Given the description of an element on the screen output the (x, y) to click on. 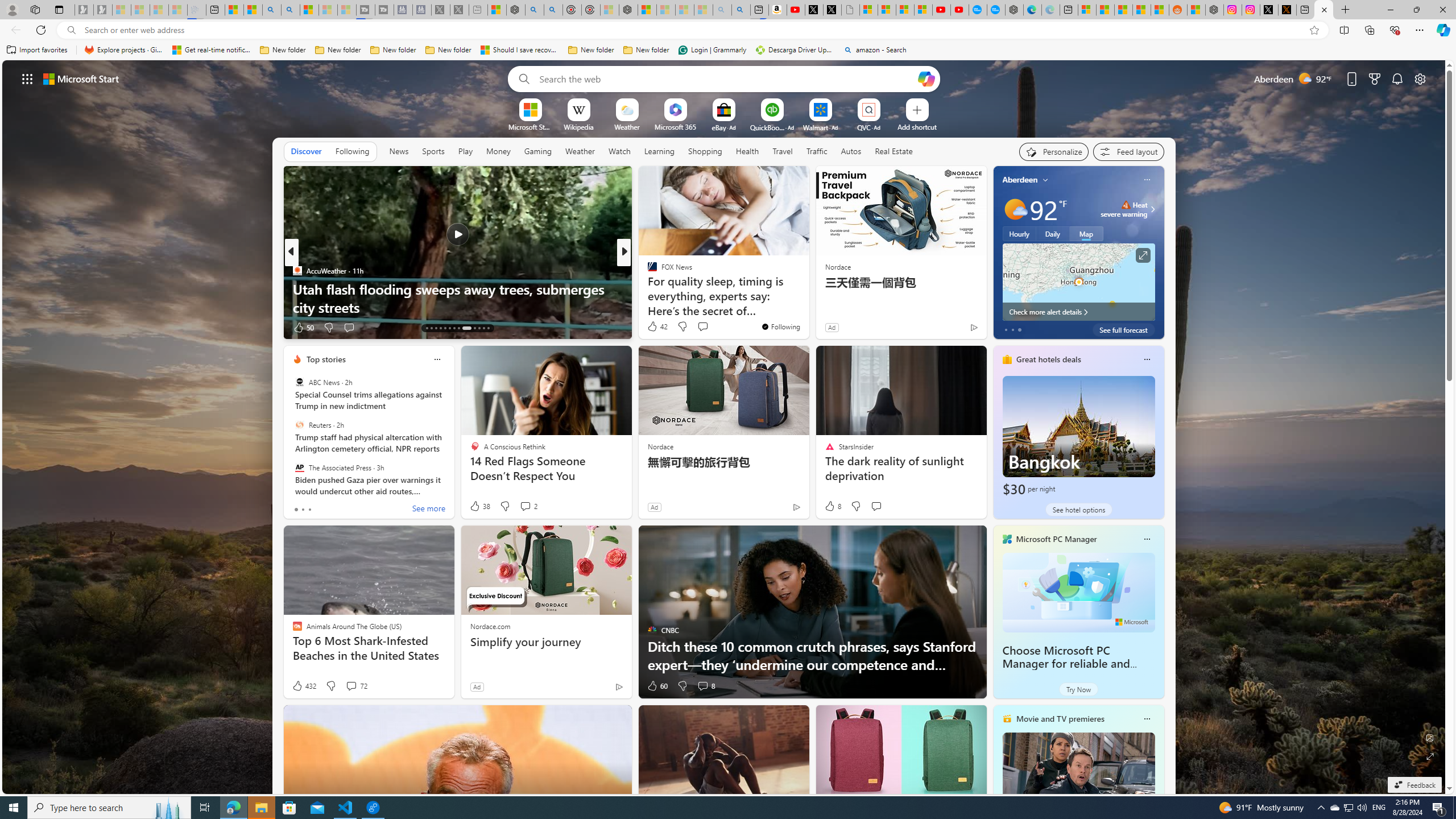
Newsletter Sign Up - Sleeping (102, 9)
AutomationID: tab-13 (426, 328)
Gloom - YouTube (941, 9)
Autos (850, 151)
The Wall Street Journal (647, 288)
Microsoft Start - Sleeping (328, 9)
